Given the description of an element on the screen output the (x, y) to click on. 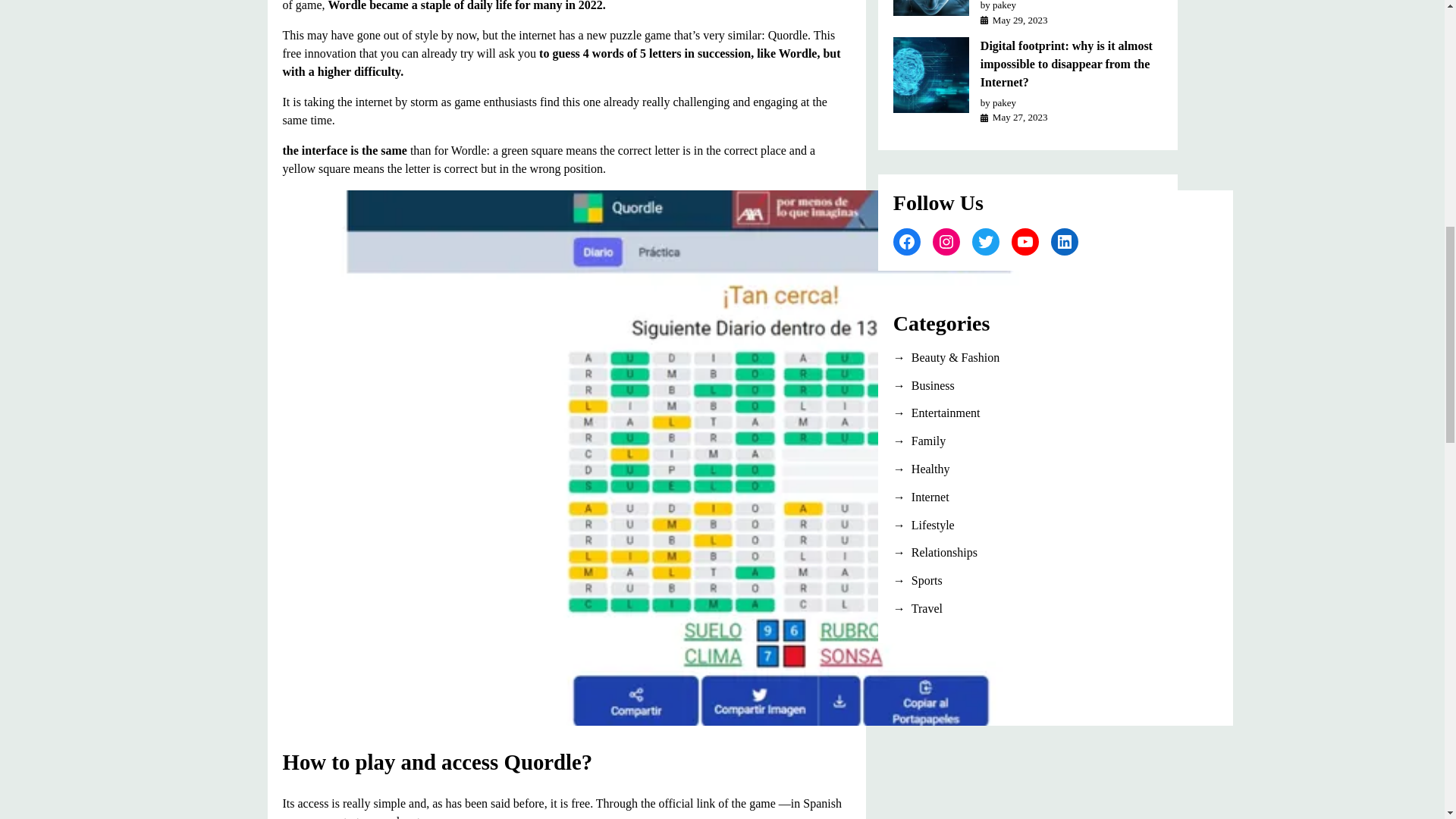
Internet (1027, 497)
Family (1027, 441)
Sports (1027, 580)
Business (1027, 385)
LinkedIn (1064, 241)
YouTube (1025, 241)
Entertainment (1027, 413)
Instagram (946, 241)
Healthy (1027, 469)
